Given the description of an element on the screen output the (x, y) to click on. 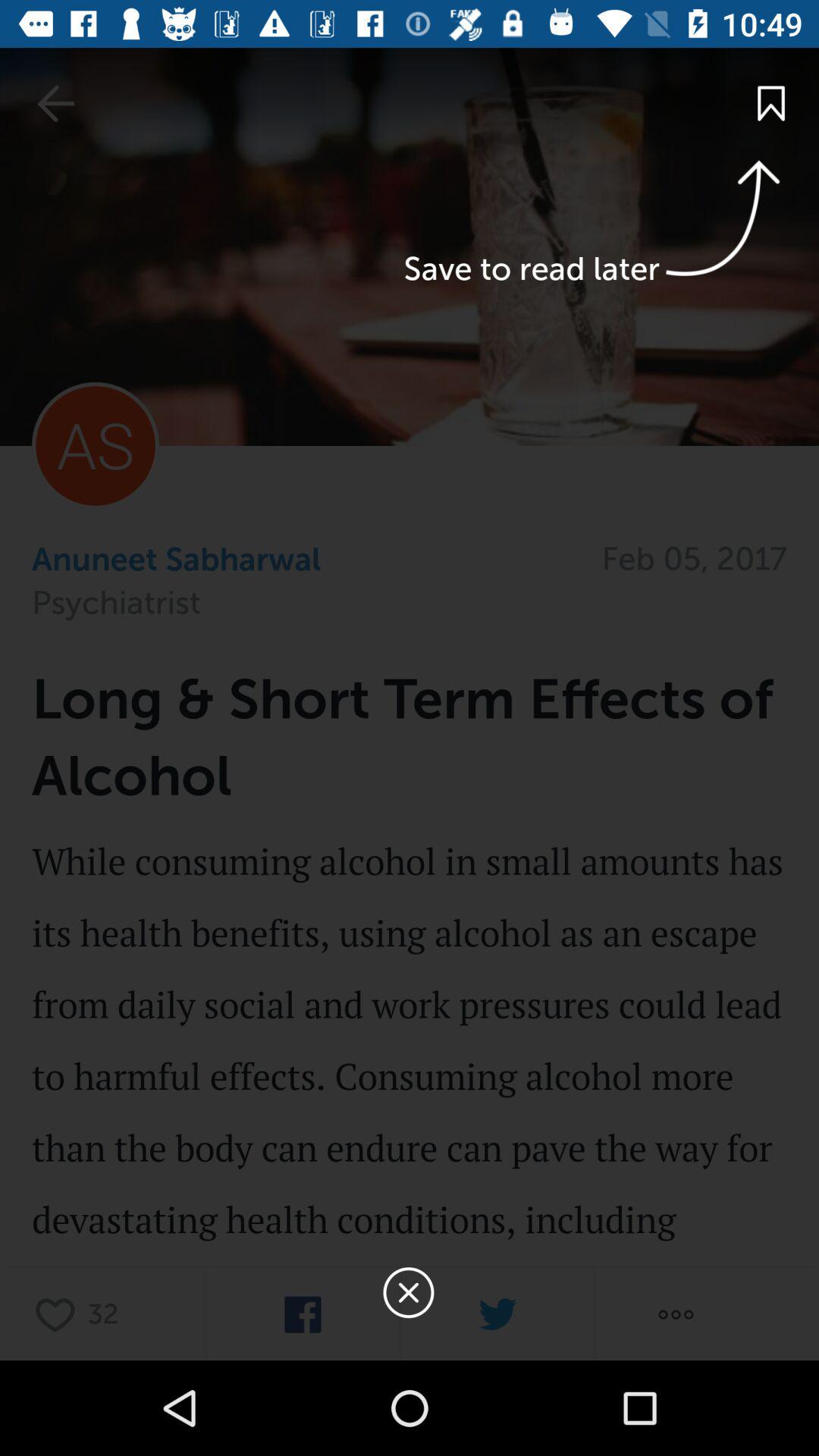
select heart (59, 1314)
